Given the description of an element on the screen output the (x, y) to click on. 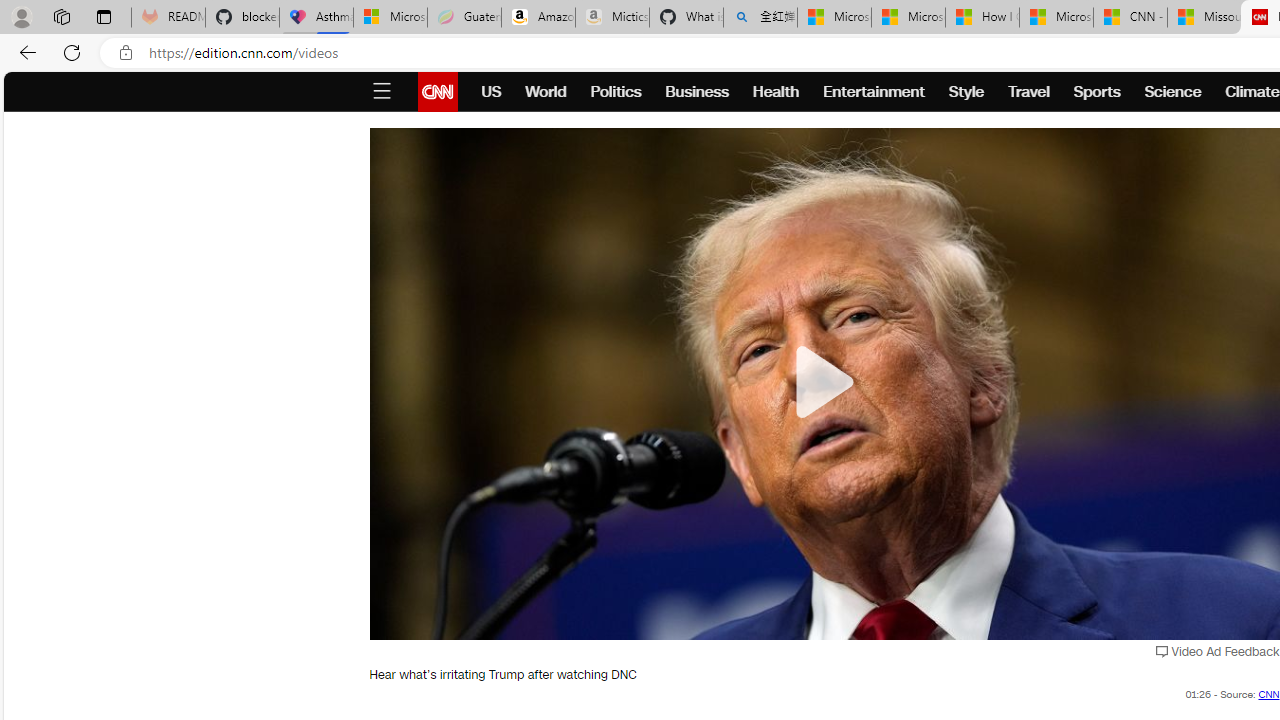
CNN - MSN (1130, 17)
Style (966, 92)
Open Menu Icon (381, 92)
US (491, 92)
World (545, 92)
